Given the description of an element on the screen output the (x, y) to click on. 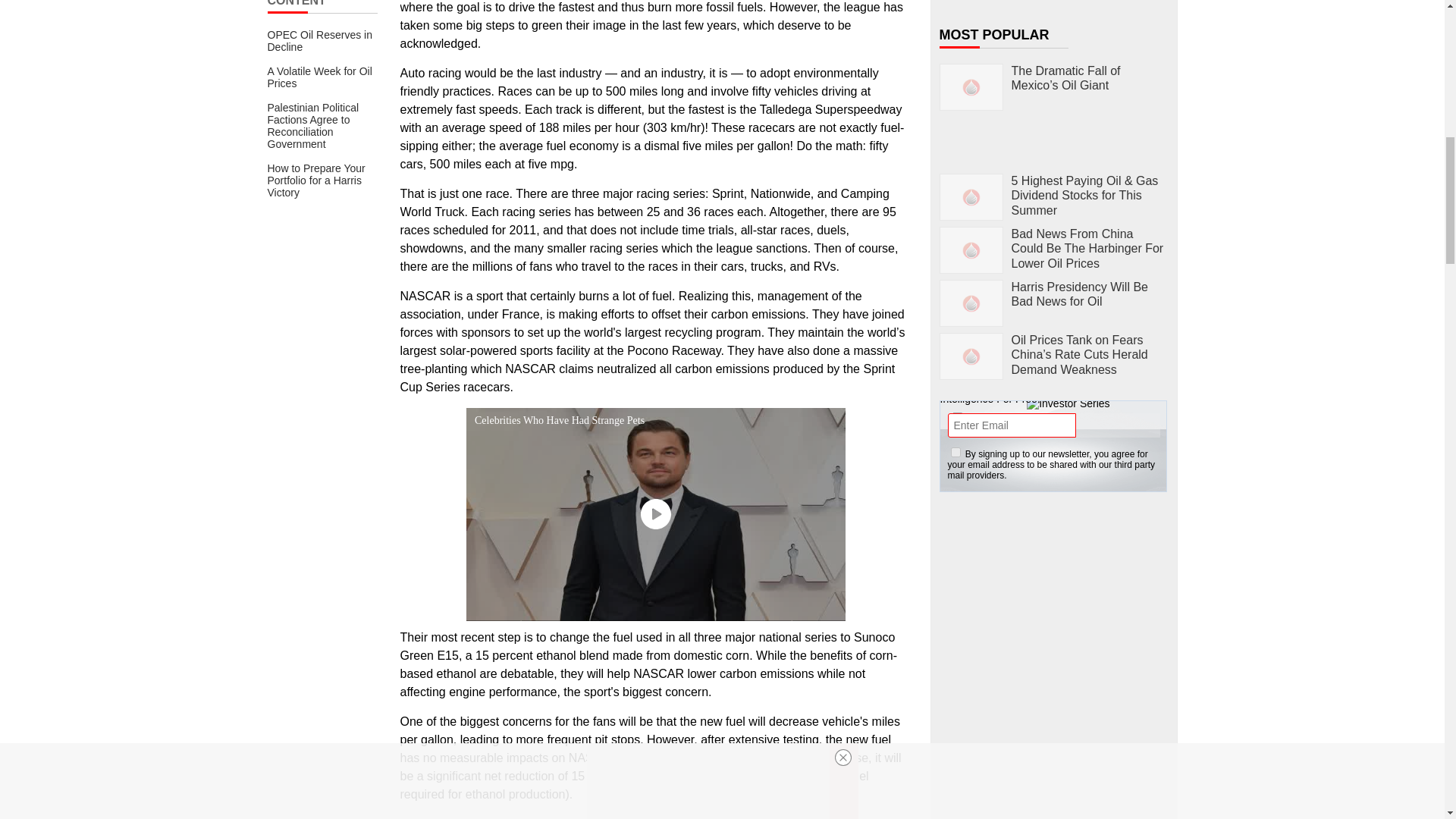
1 (955, 452)
3rd party ad content (1053, 599)
3rd party ad content (1053, 766)
